Given the description of an element on the screen output the (x, y) to click on. 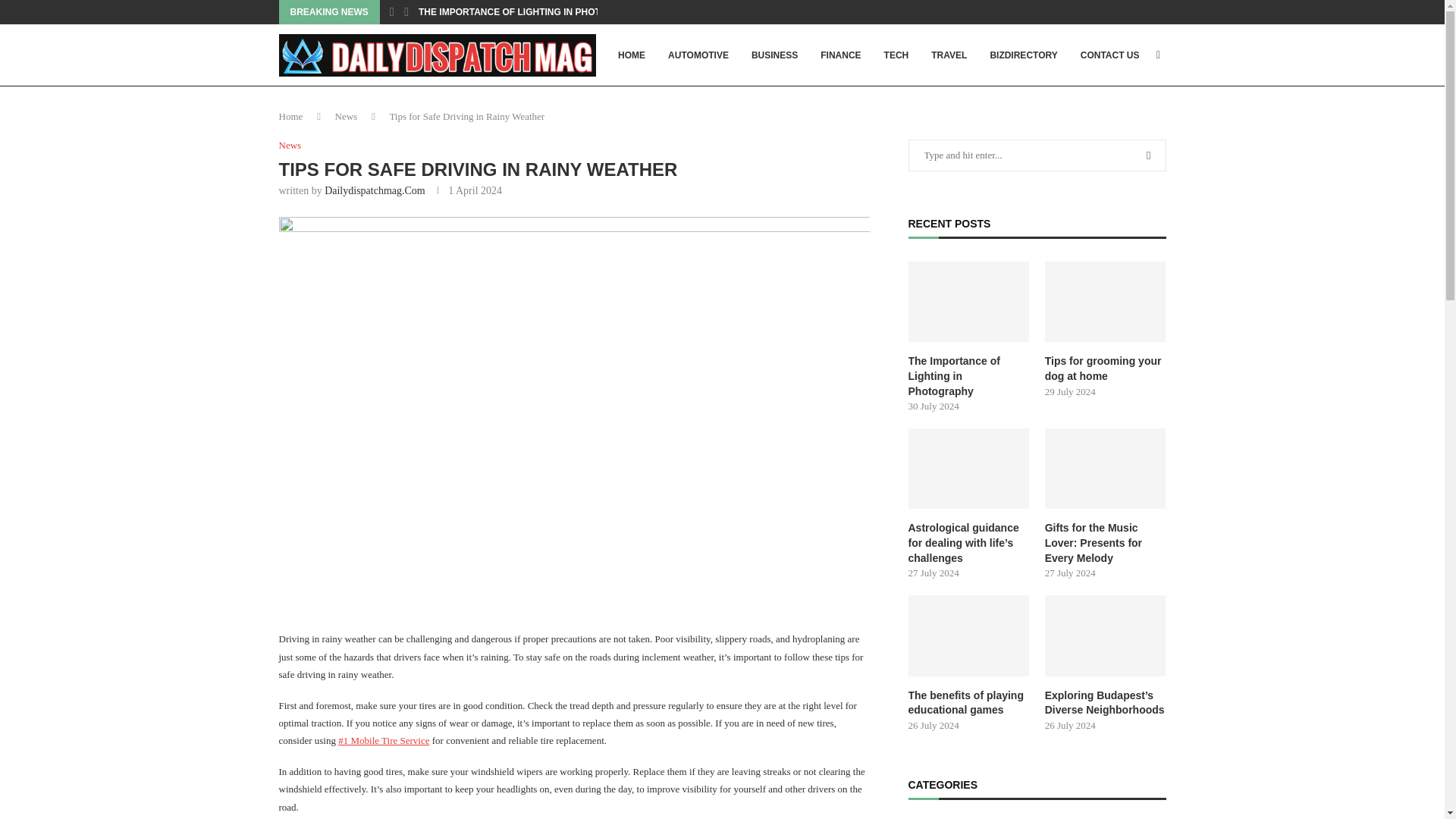
The Importance of Lighting in Photography (968, 302)
CONTACT US (1110, 55)
BIZDIRECTORY (1023, 55)
News (290, 145)
News (346, 116)
Home (290, 116)
Dailydispatchmag.Com (374, 190)
AUTOMOTIVE (698, 55)
The Importance of Lighting in Photography (968, 375)
THE IMPORTANCE OF LIGHTING IN PHOTOGRAPHY (532, 12)
